Given the description of an element on the screen output the (x, y) to click on. 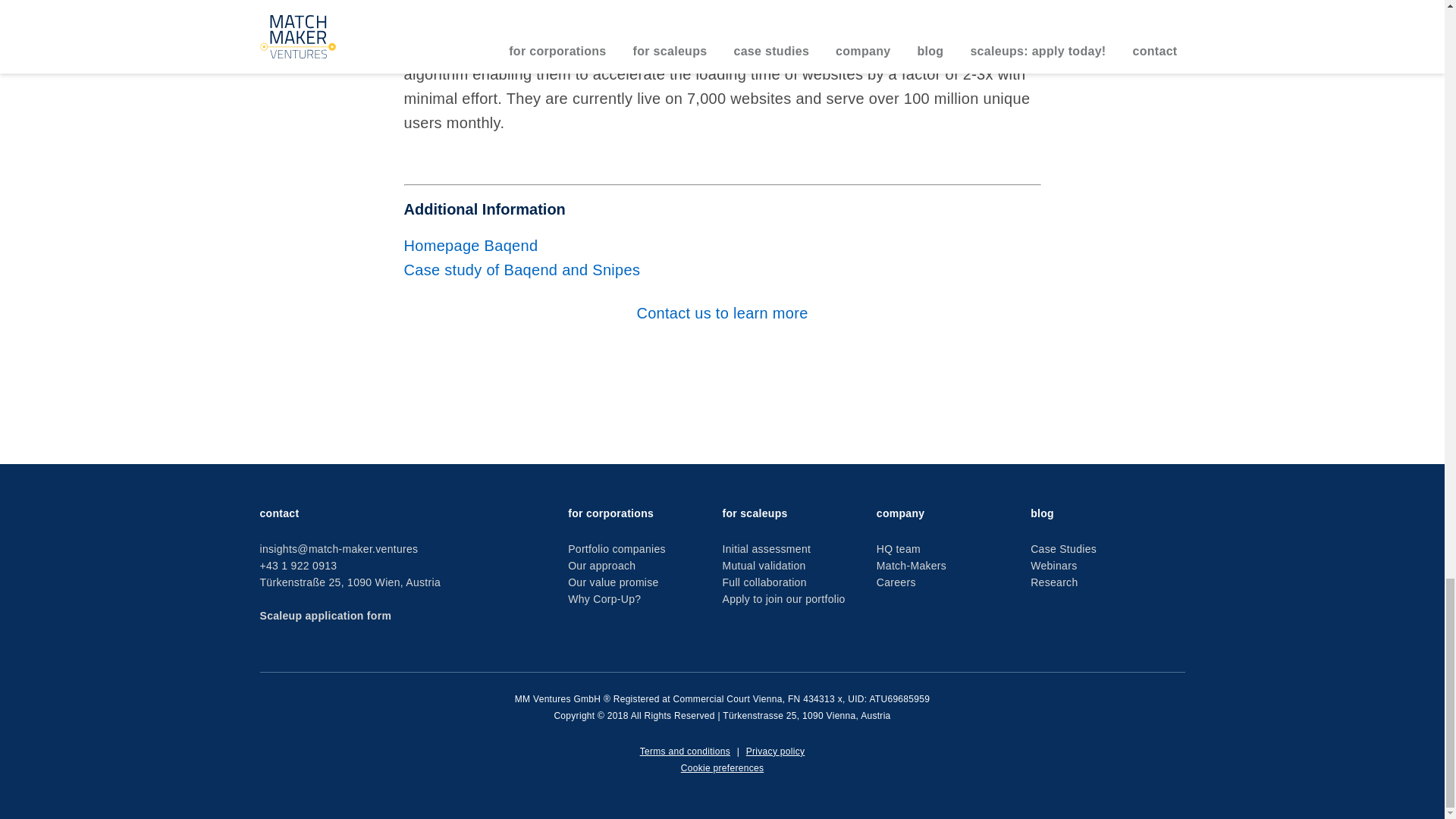
Scaleup application form (325, 615)
Portfolio companies (616, 548)
Case study of Baqend and Snipes  (524, 269)
contact (278, 512)
for corporations (610, 512)
Contact us to learn more (722, 312)
Our value promise (612, 582)
Why Corp-Up? (603, 598)
Our approach (600, 565)
Homepage Baqend (470, 245)
